Given the description of an element on the screen output the (x, y) to click on. 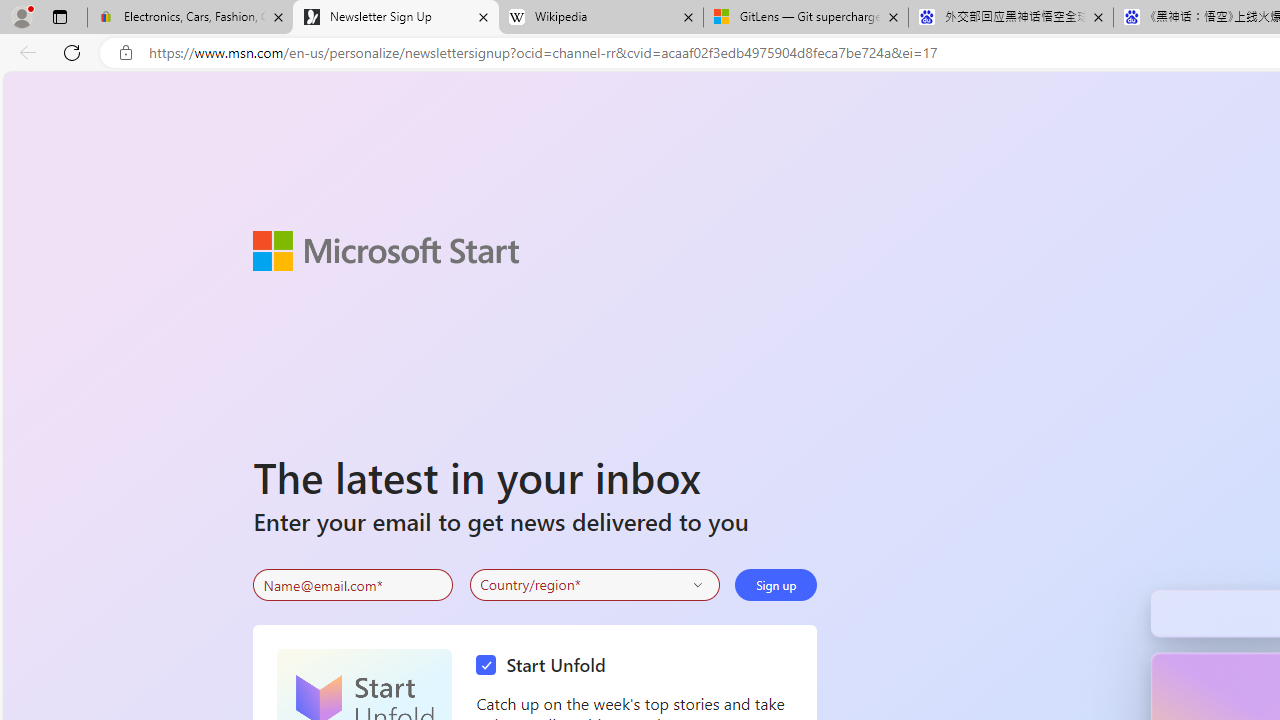
Start Unfold (545, 665)
Newsletter Sign Up (395, 17)
Sign up (775, 584)
Select your country (594, 584)
Enter your email (353, 585)
